Given the description of an element on the screen output the (x, y) to click on. 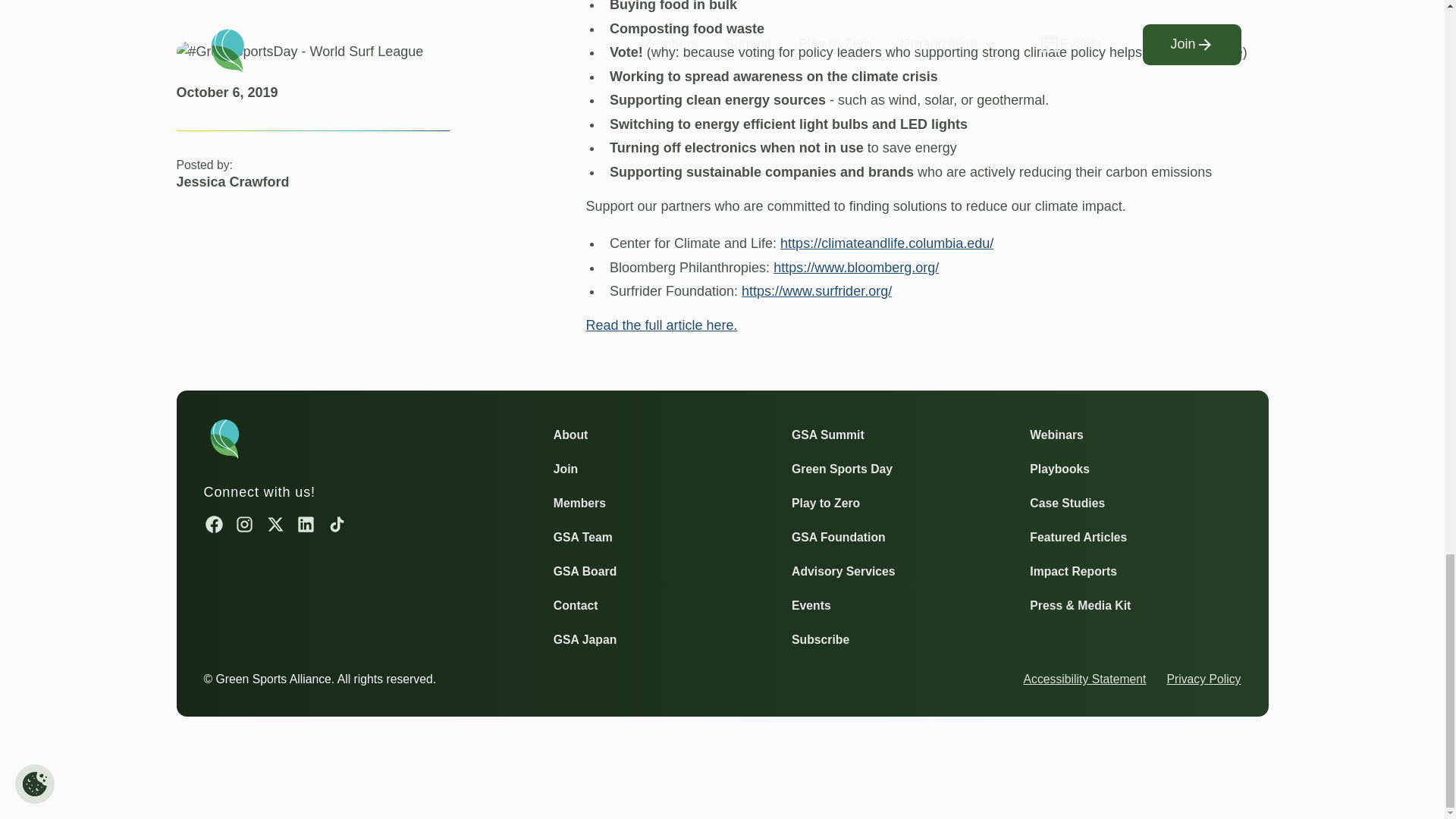
Read the full article here. (660, 324)
